Given the description of an element on the screen output the (x, y) to click on. 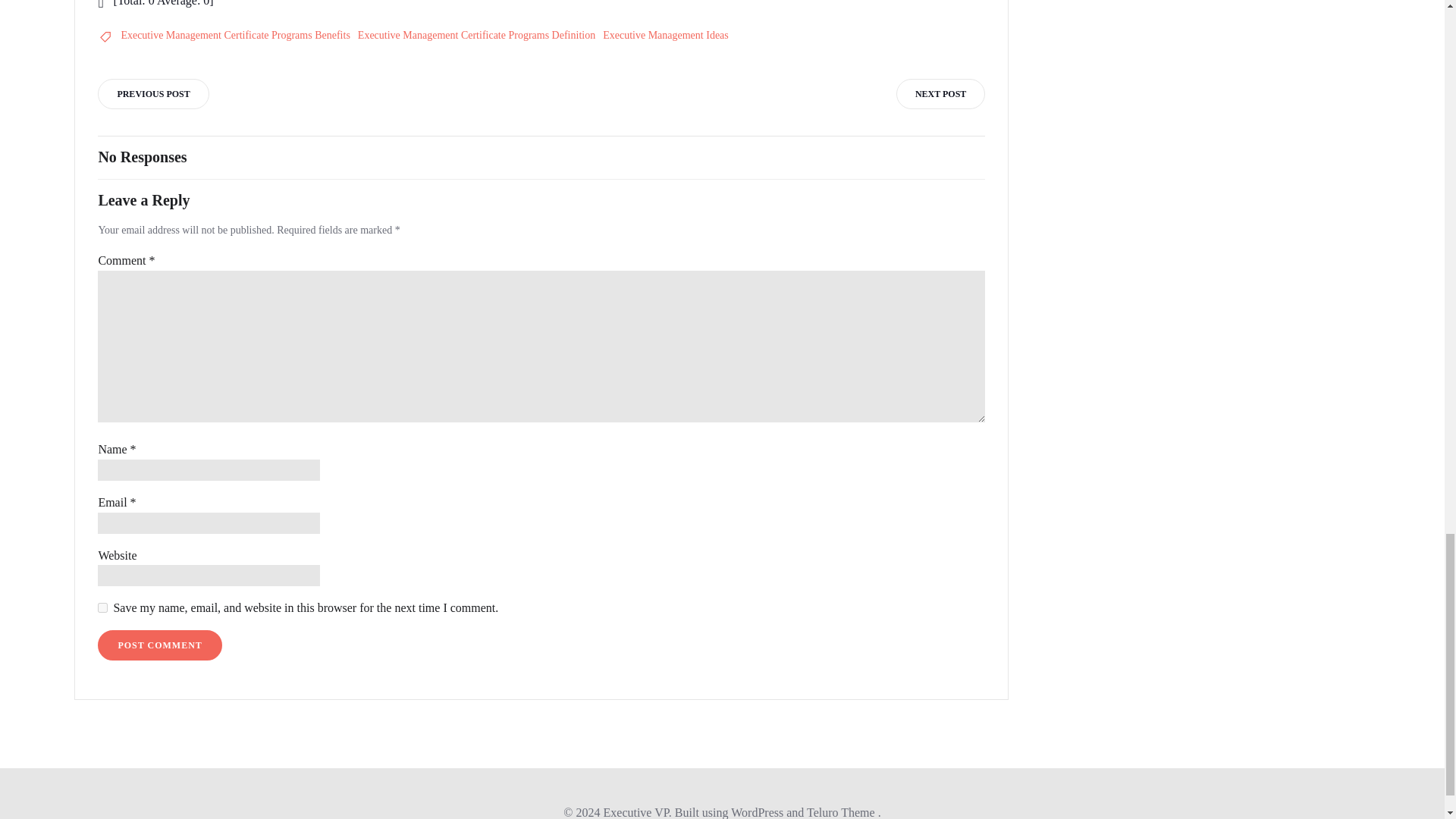
Post Comment (159, 644)
Post Comment (159, 644)
Tag: Executive Management Certificate Programs Benefits (234, 35)
Executive Management Certificate Programs Definition (476, 35)
Tag: Executive Management Certificate Programs Definition (476, 35)
Executive Management Ideas (665, 35)
Tag: Executive Management Ideas (665, 35)
PREVIOUS POST (152, 93)
NEXT POST (940, 93)
yes (102, 607)
